Given the description of an element on the screen output the (x, y) to click on. 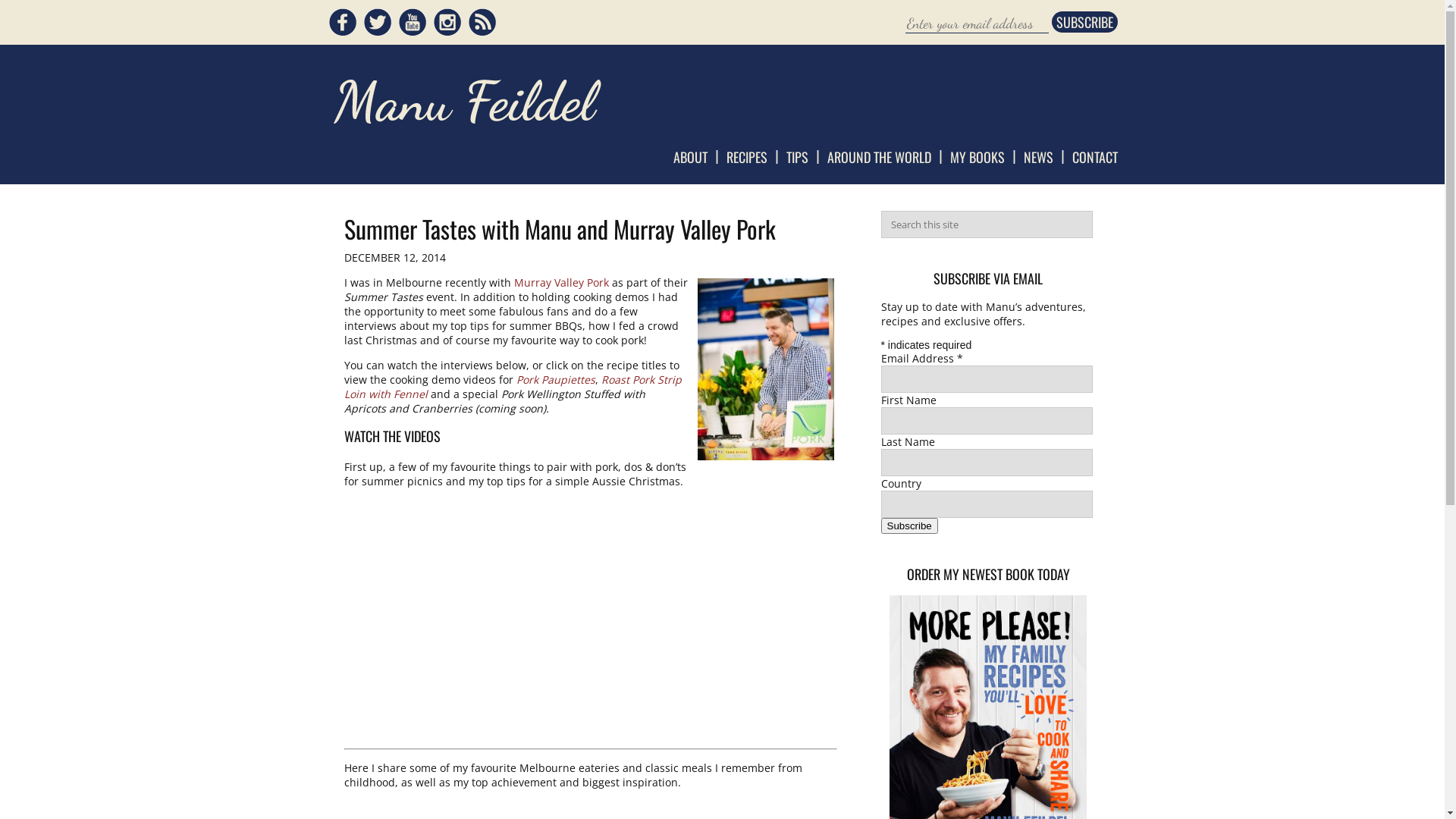
NEWS Element type: text (1038, 156)
RECIPES Element type: text (746, 156)
Subscribe Element type: text (909, 525)
CONTACT Element type: text (1094, 156)
Pork Paupiettes Element type: text (554, 379)
ABOUT Element type: text (690, 156)
MY BOOKS Element type: text (976, 156)
TIPS Element type: text (796, 156)
Search Element type: text (21, 7)
Roast Pork Strip Loin with Fennel Element type: text (512, 386)
Murray Valley Pork Element type: text (561, 282)
Subscribe Element type: text (1084, 21)
AROUND THE WORLD Element type: text (878, 156)
